Given the description of an element on the screen output the (x, y) to click on. 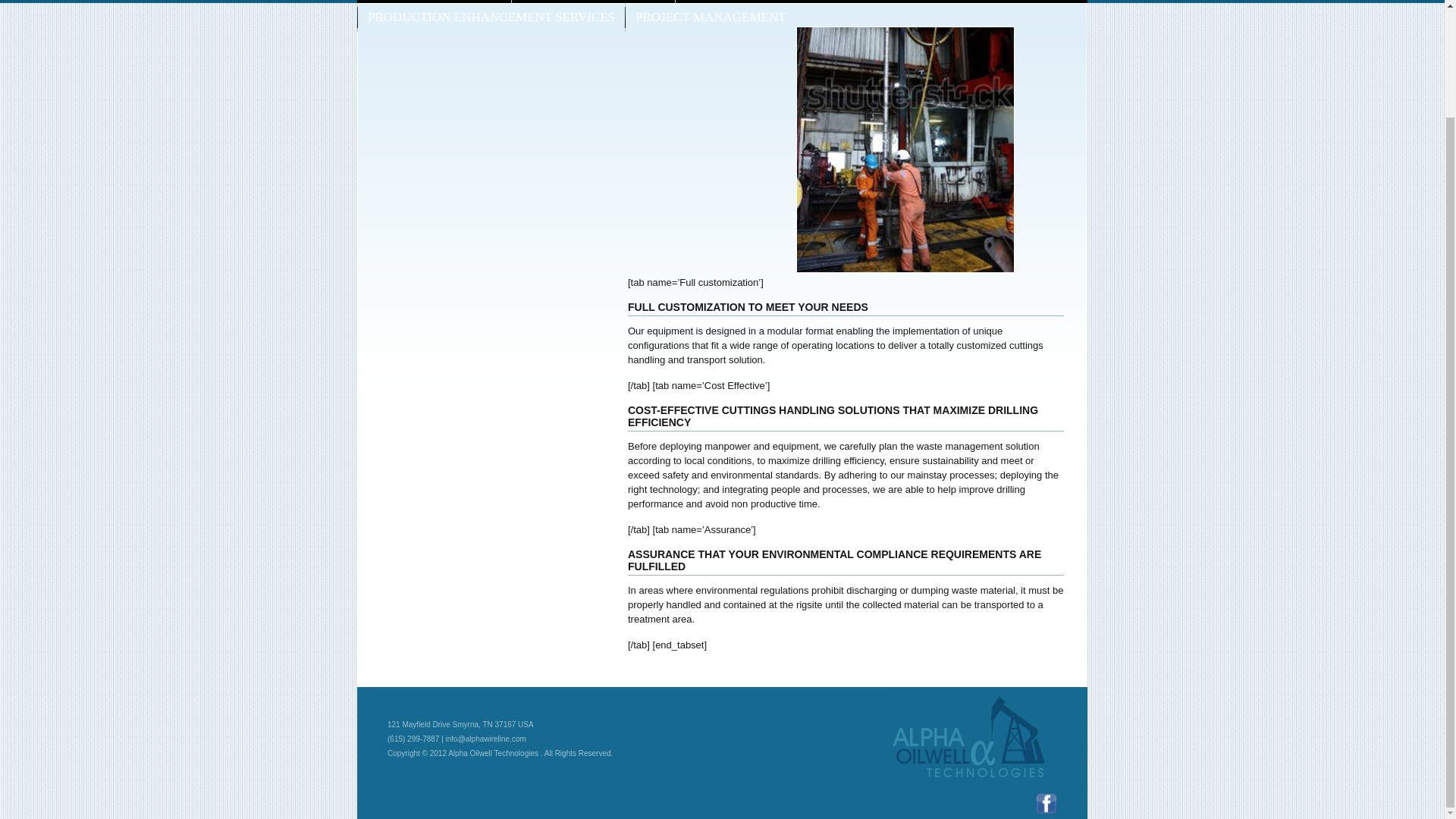
PROJECT MANAGEMENT (711, 17)
CASED HOLE SERVICES (593, 1)
OPEN HOLE SERVICES (433, 1)
SLICKLINE SERVICES (750, 1)
PRODUCTION ENHANCEMENT SERVICES (491, 17)
